Given the description of an element on the screen output the (x, y) to click on. 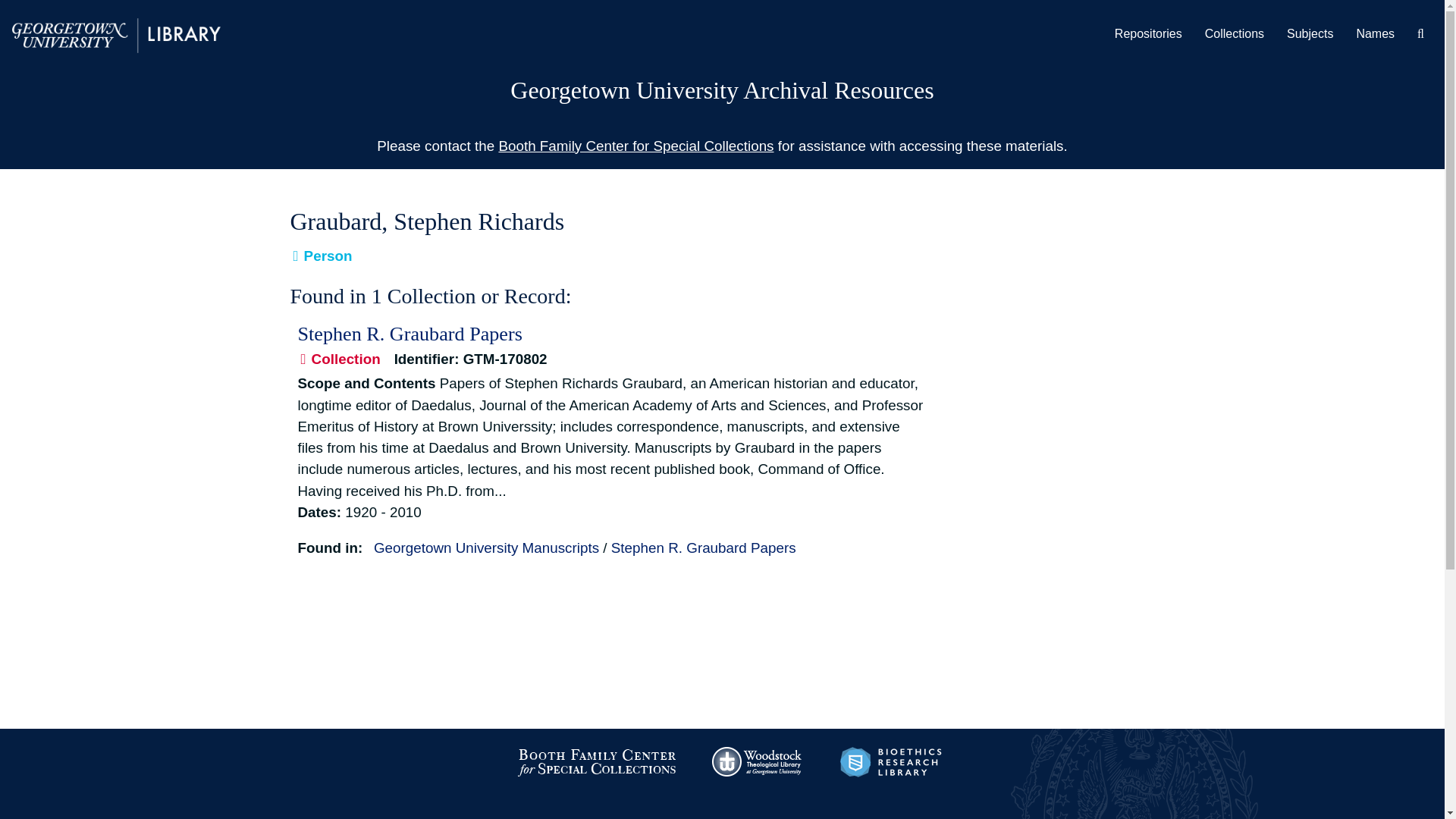
Collections (1234, 34)
Booth Family Center for Special Collections (596, 760)
Subjects (1309, 34)
Stephen R. Graubard Papers (409, 333)
Georgetown University Library Website (116, 34)
Woodstock Theological Library at Georgetown University (758, 760)
Names (1374, 34)
Repositories (1148, 34)
translation missing: en.dates (316, 512)
Page Actions (981, 203)
Contact Us (319, 814)
Georgetown University Archival Resources (722, 90)
Facebook (838, 814)
Georgetown University Manuscripts (486, 547)
Stephen R. Graubard Papers (703, 547)
